Given the description of an element on the screen output the (x, y) to click on. 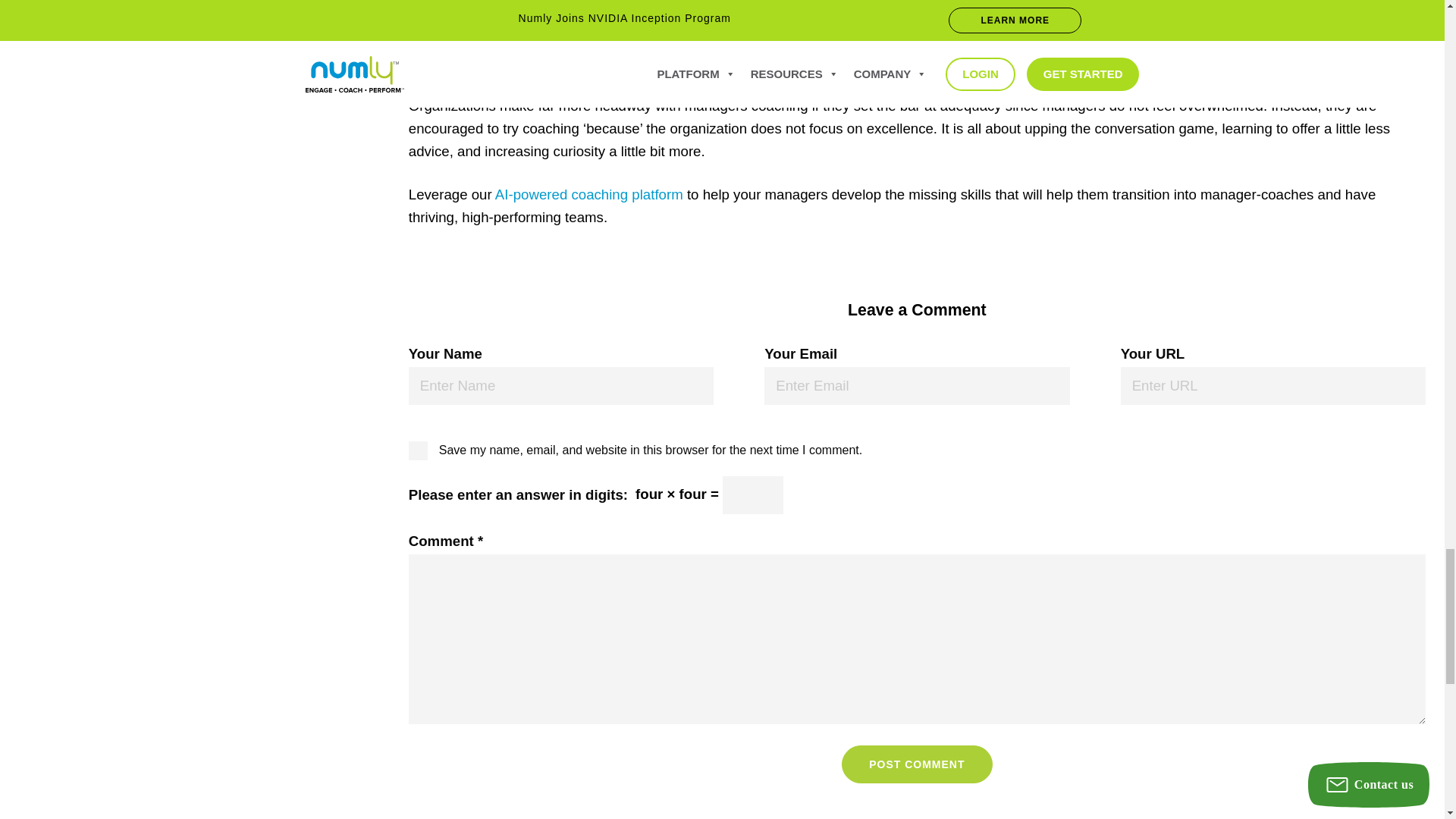
yes (414, 442)
Post Comment (916, 763)
